Given the description of an element on the screen output the (x, y) to click on. 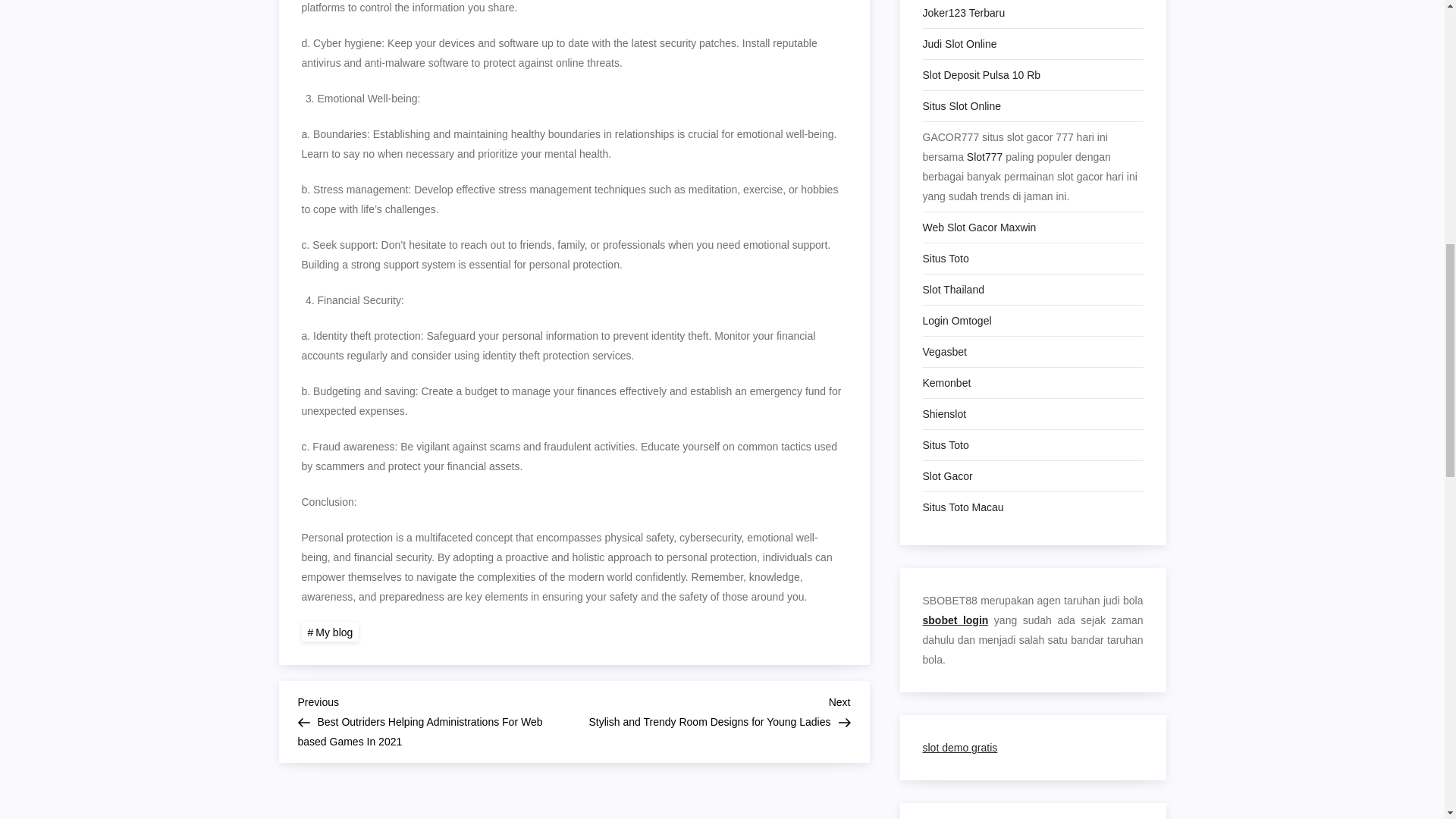
sbobet login (954, 620)
Web Slot Gacor Maxwin (978, 227)
Login Omtogel (956, 320)
Situs Toto Macau (962, 506)
Joker123 Terbaru (962, 12)
Kemonbet (946, 383)
Slot Thailand (952, 289)
Situs Slot Online (961, 106)
Slot777 (984, 157)
Situs Toto (944, 258)
Shienslot (943, 414)
Vegasbet (943, 351)
Judi Slot Online (958, 44)
Slot Deposit Pulsa 10 Rb (981, 75)
